Given the description of an element on the screen output the (x, y) to click on. 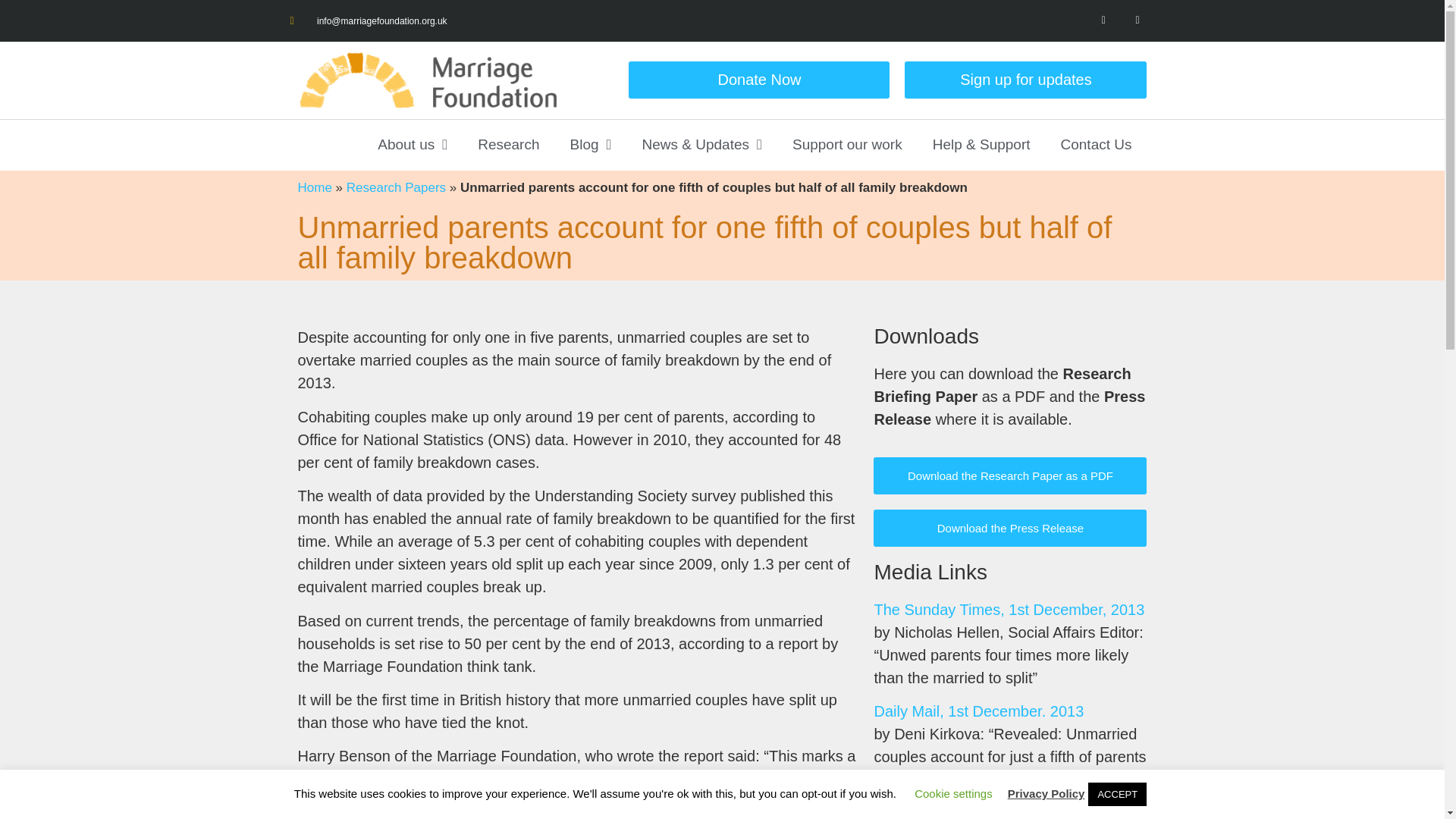
Contact Us (1096, 144)
Home (314, 187)
Donate Now (758, 79)
Research Papers (395, 187)
About us (412, 144)
Sign up for updates (1025, 79)
Support our work (847, 144)
Research (508, 144)
Blog (590, 144)
